Given the description of an element on the screen output the (x, y) to click on. 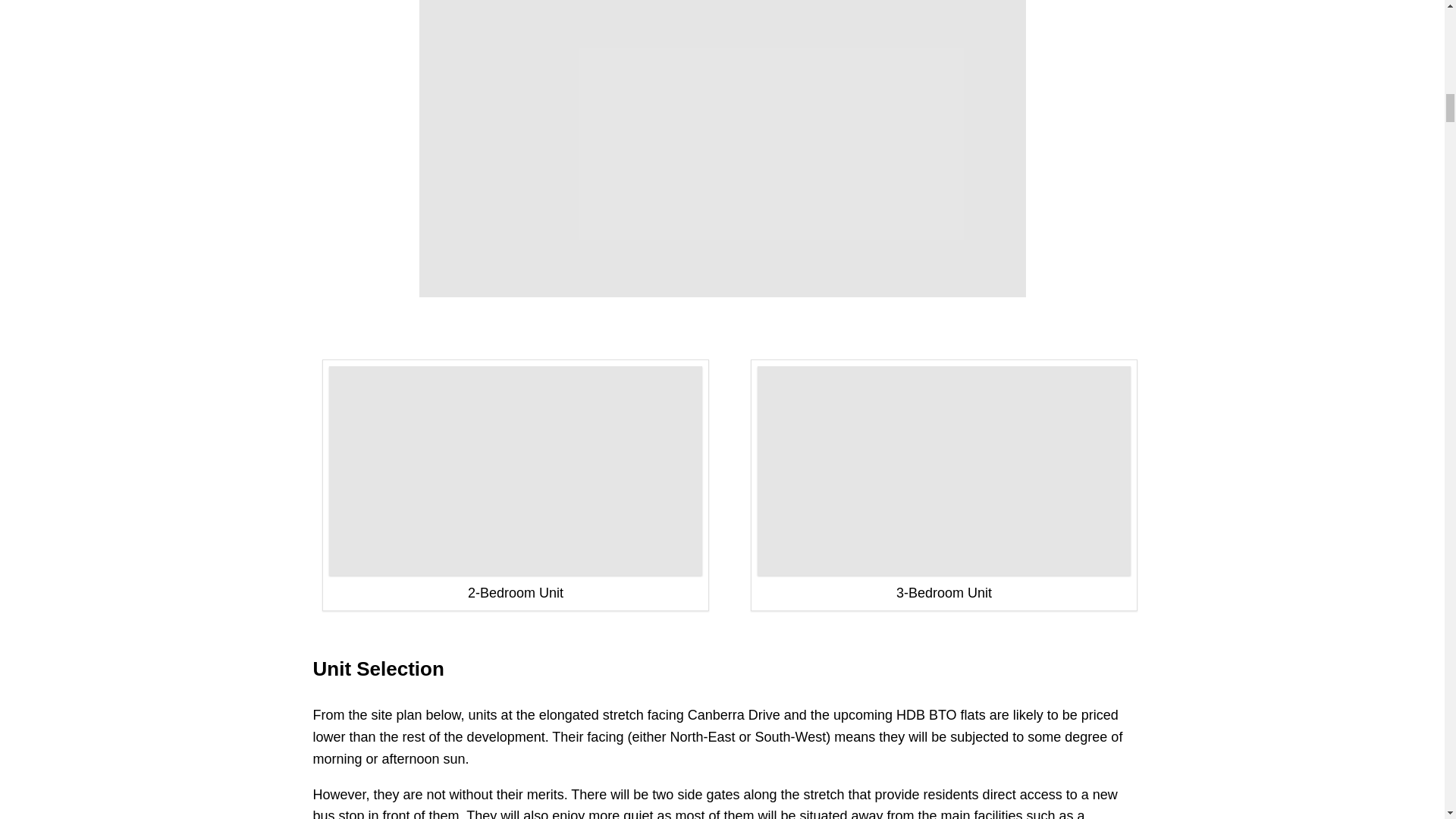
The Watergardens 3-Bedroom Unit (944, 470)
The Watergardens 2-Bedroom Unit (515, 470)
